Given the description of an element on the screen output the (x, y) to click on. 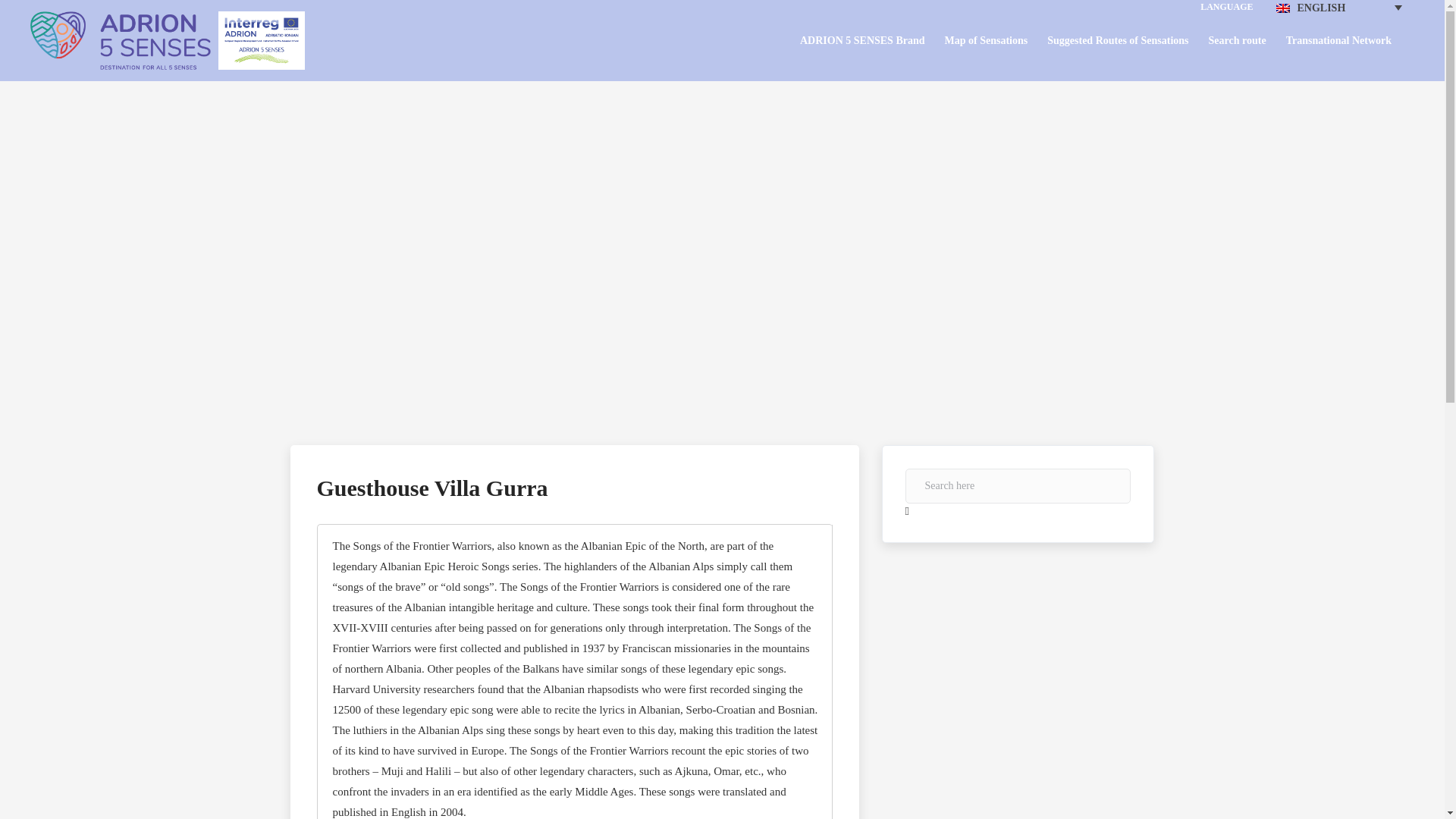
Search route (1237, 39)
Transnational Network (1338, 39)
Suggested Routes of Sensations (1117, 39)
Map of Sensations (985, 39)
ADRION 5 SENSES Brand (861, 39)
English (1281, 8)
ENGLISH (1338, 8)
